Given the description of an element on the screen output the (x, y) to click on. 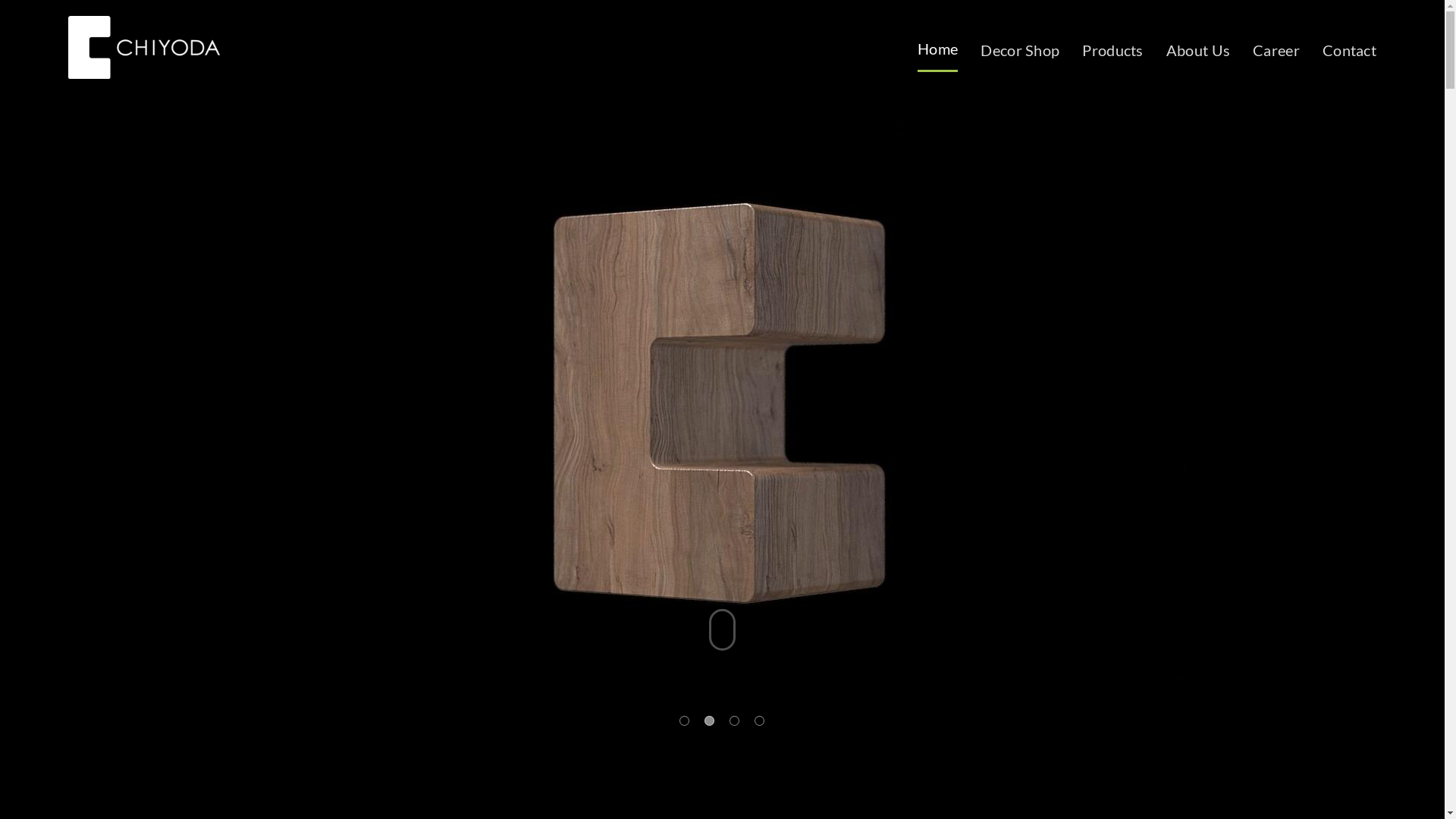
Career Element type: text (1275, 53)
Decor Shop Element type: text (1019, 53)
Products Element type: text (1112, 53)
Contact Element type: text (1349, 53)
Home Element type: text (937, 53)
About Us Element type: text (1198, 53)
